Given the description of an element on the screen output the (x, y) to click on. 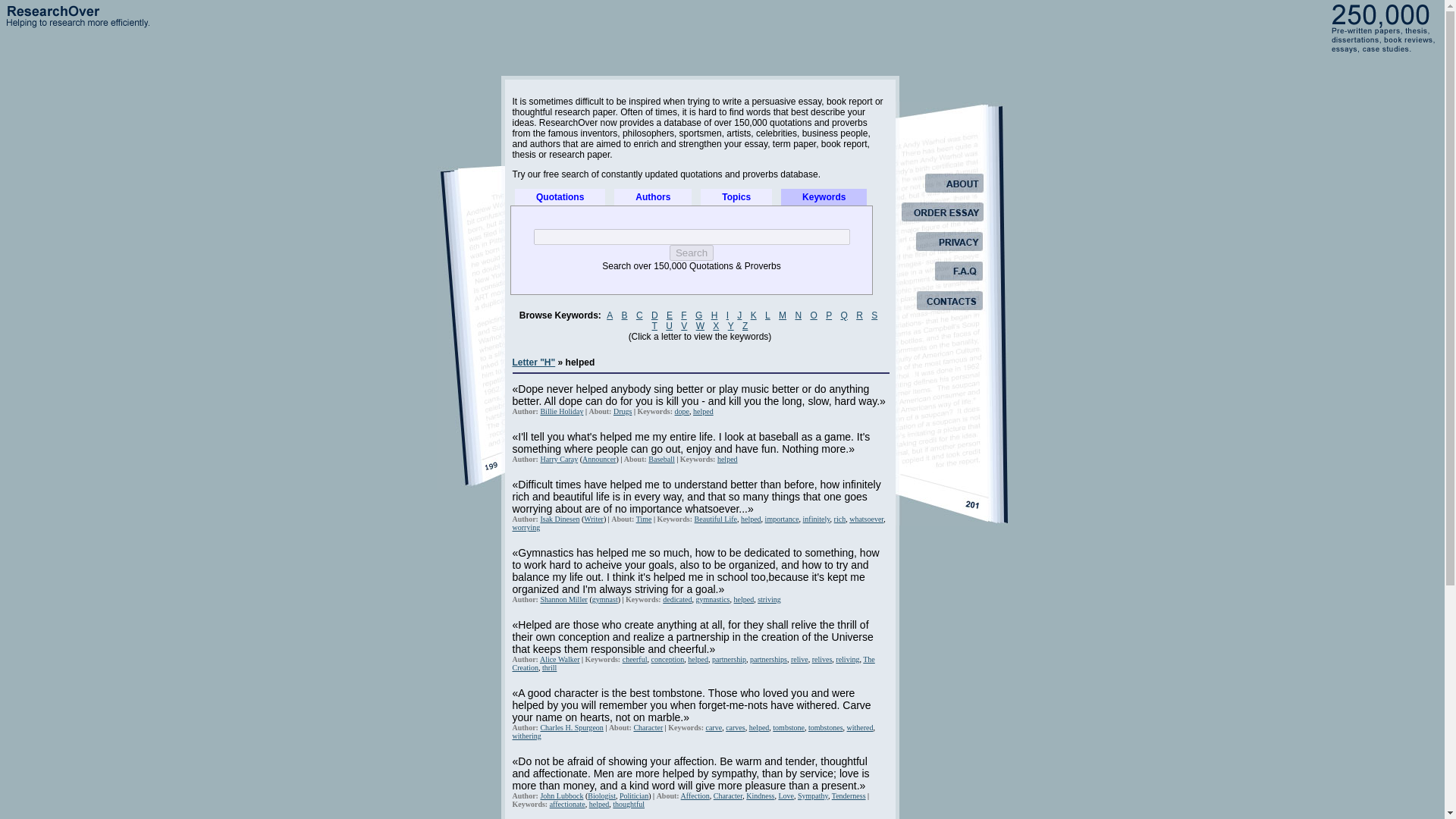
Search (691, 252)
Topics (735, 197)
Drugs (621, 411)
Billie Holiday (561, 411)
Quotations (560, 197)
Letter "H" (534, 362)
helped (703, 411)
Authors (652, 197)
dope (681, 411)
Announcer (598, 459)
